Given the description of an element on the screen output the (x, y) to click on. 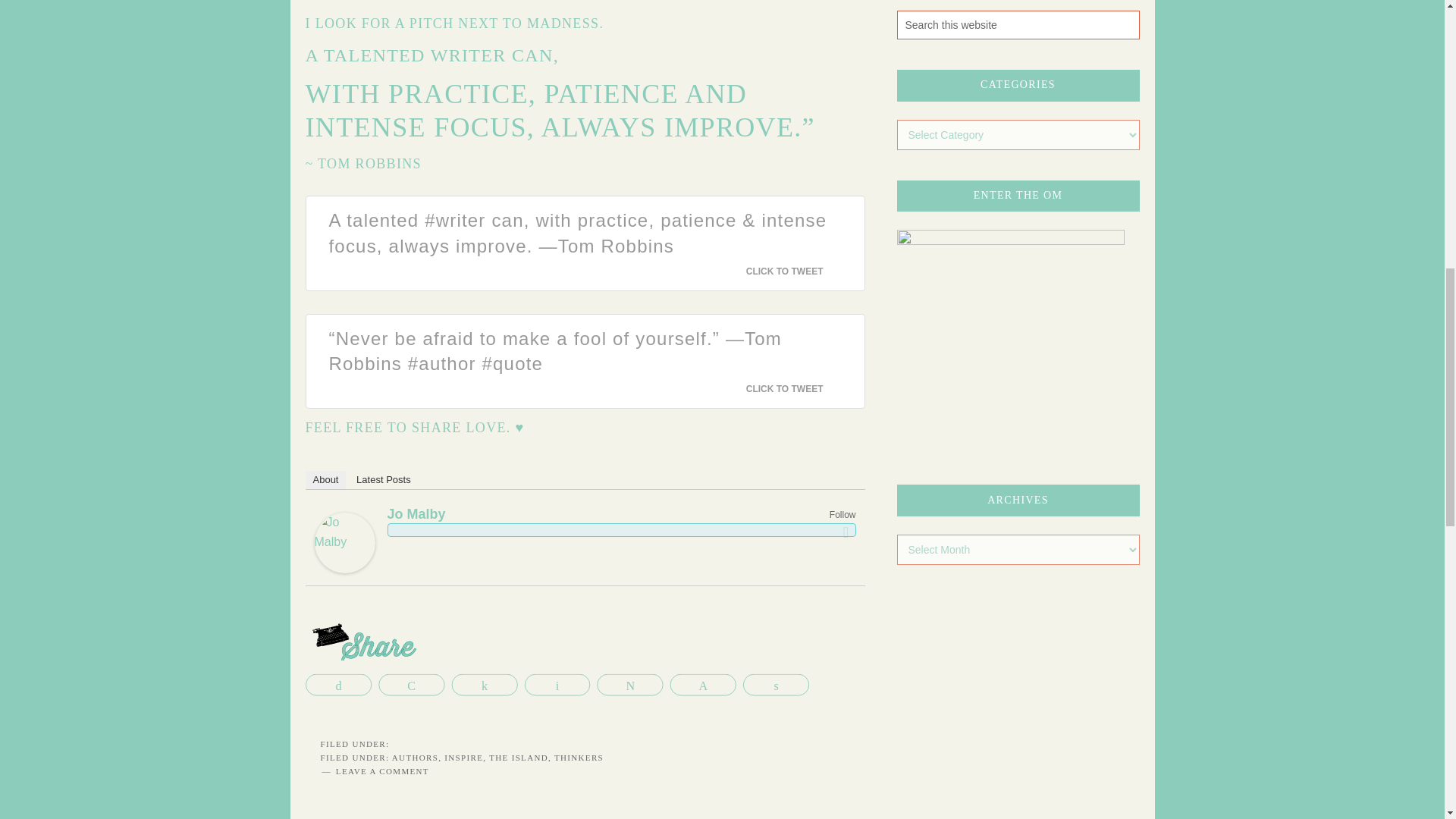
Twitter (846, 532)
